Given the description of an element on the screen output the (x, y) to click on. 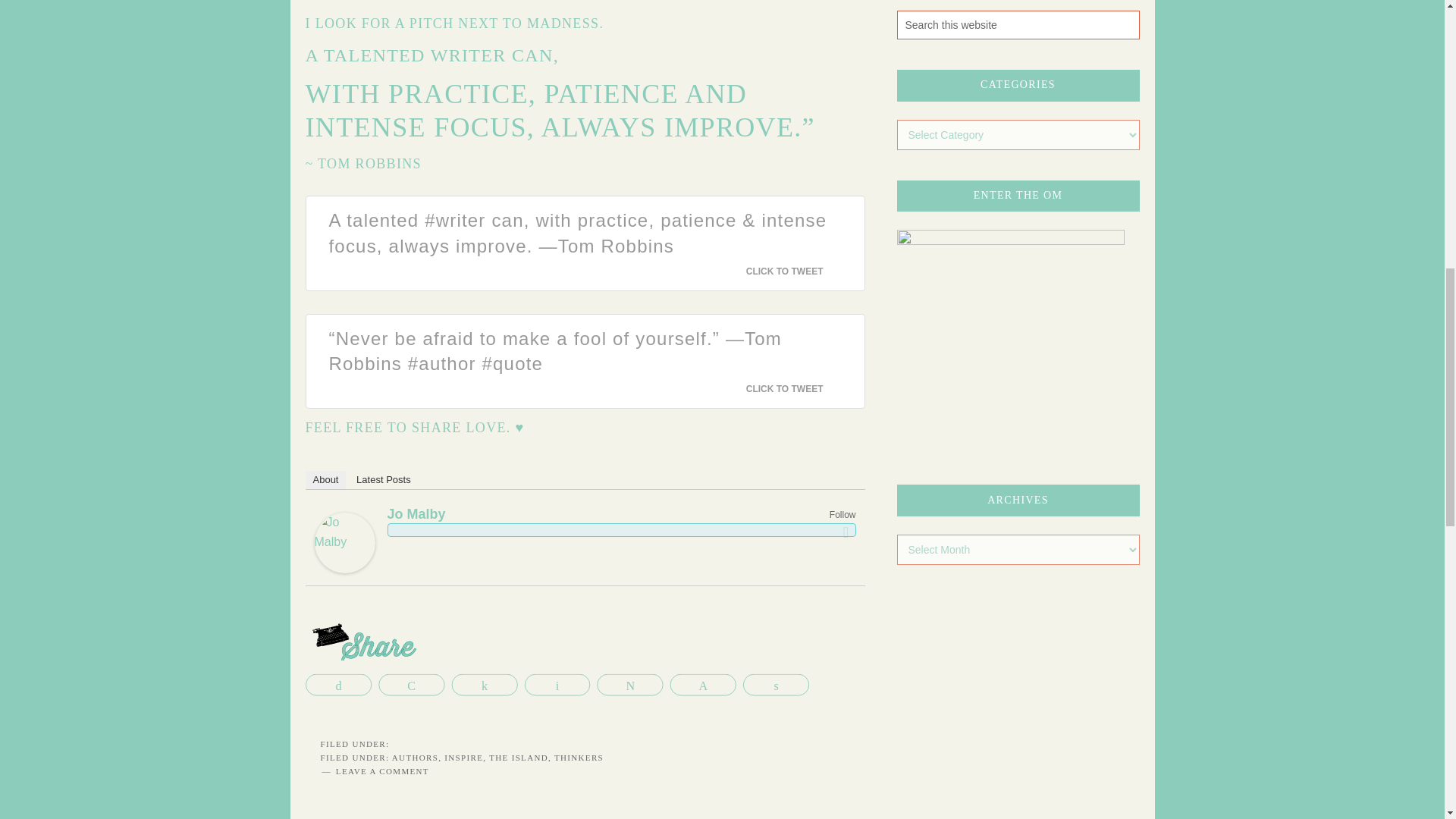
Twitter (846, 532)
